Given the description of an element on the screen output the (x, y) to click on. 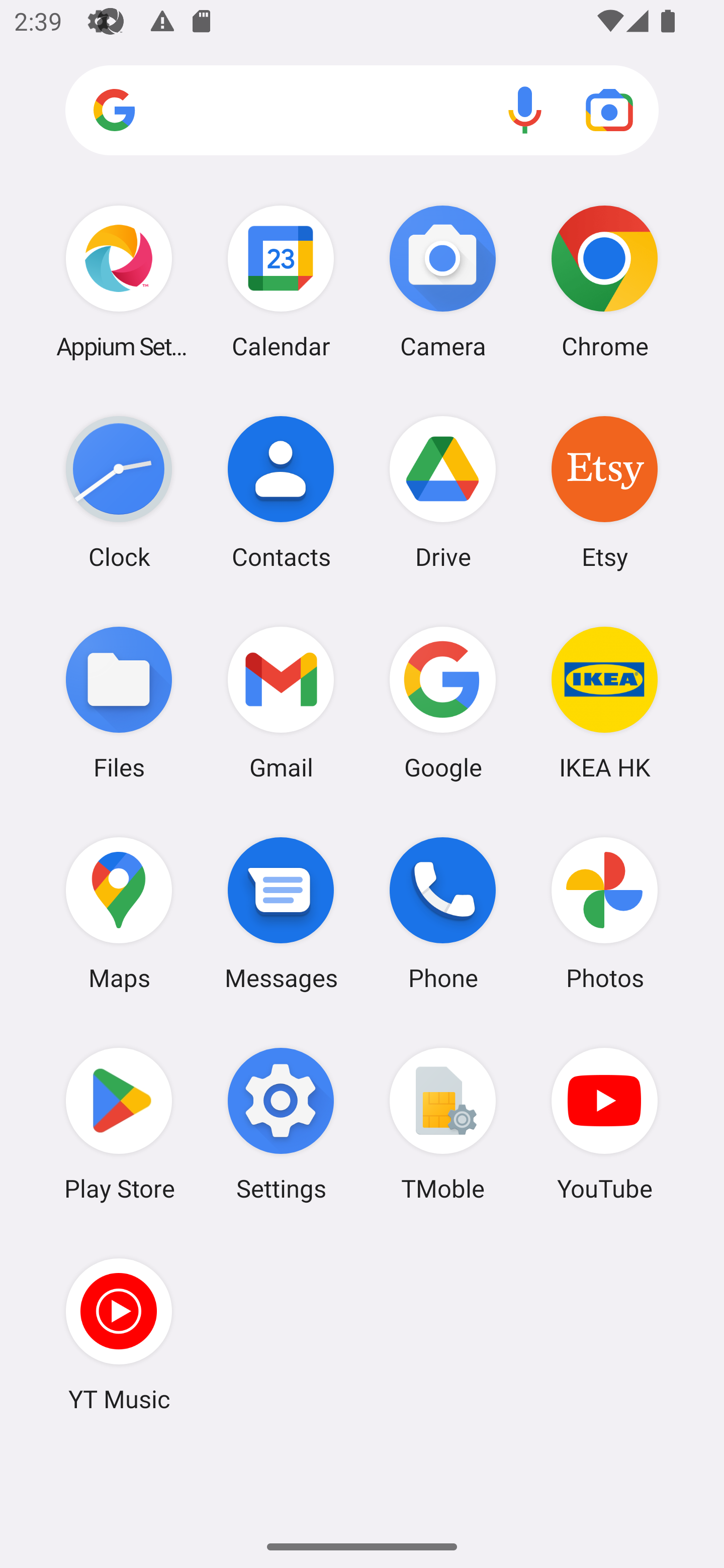
Search apps, web and more (361, 110)
Voice search (524, 109)
Google Lens (608, 109)
Appium Settings (118, 281)
Calendar (280, 281)
Camera (443, 281)
Chrome (604, 281)
Clock (118, 492)
Contacts (280, 492)
Drive (443, 492)
Etsy (604, 492)
Files (118, 702)
Gmail (280, 702)
Google (443, 702)
IKEA HK (604, 702)
Maps (118, 913)
Messages (280, 913)
Phone (443, 913)
Photos (604, 913)
Play Store (118, 1124)
Settings (280, 1124)
TMoble (443, 1124)
YouTube (604, 1124)
YT Music (118, 1334)
